Given the description of an element on the screen output the (x, y) to click on. 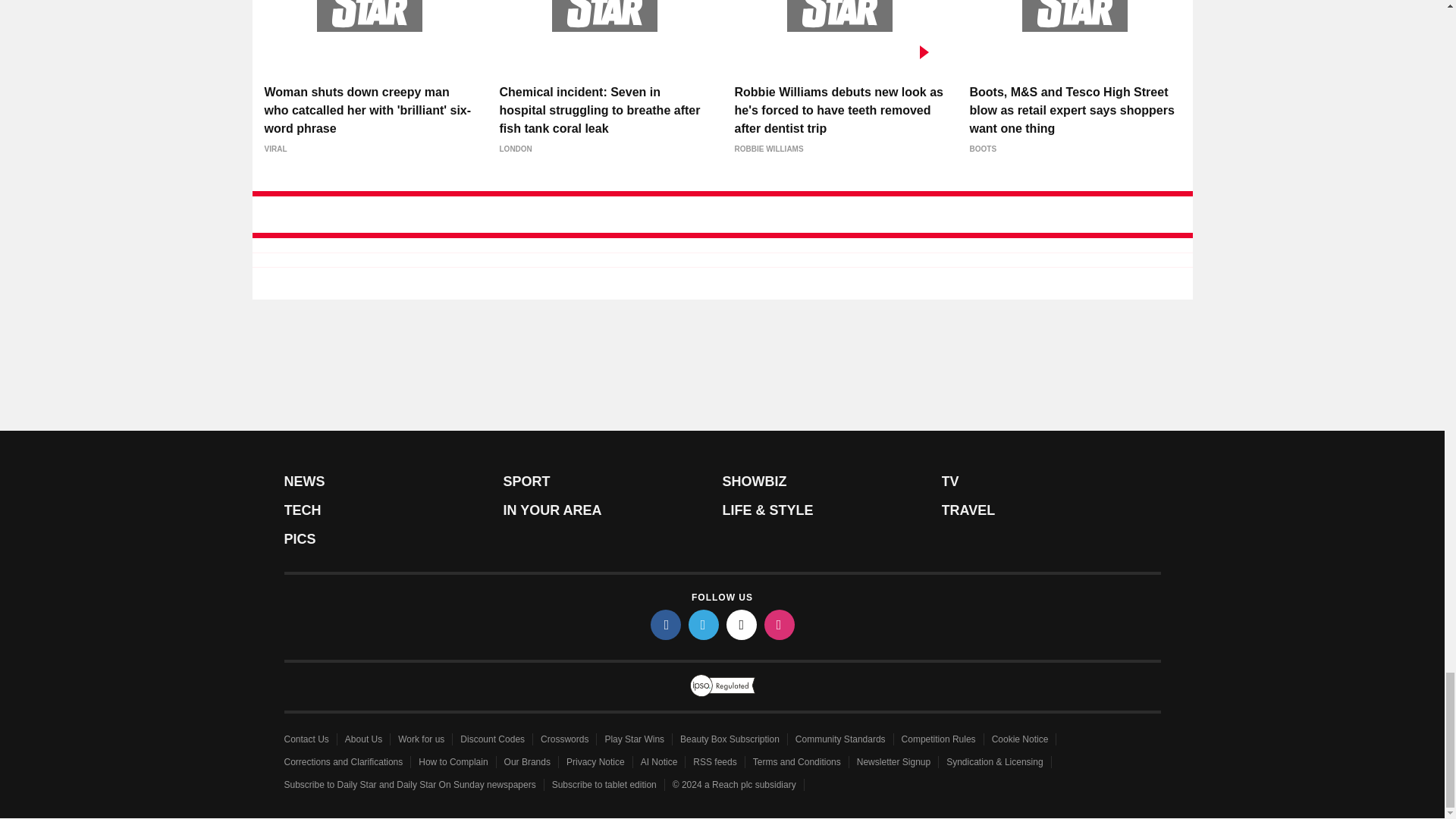
twitter (703, 624)
tiktok (741, 624)
facebook (665, 624)
instagram (779, 624)
